Given the description of an element on the screen output the (x, y) to click on. 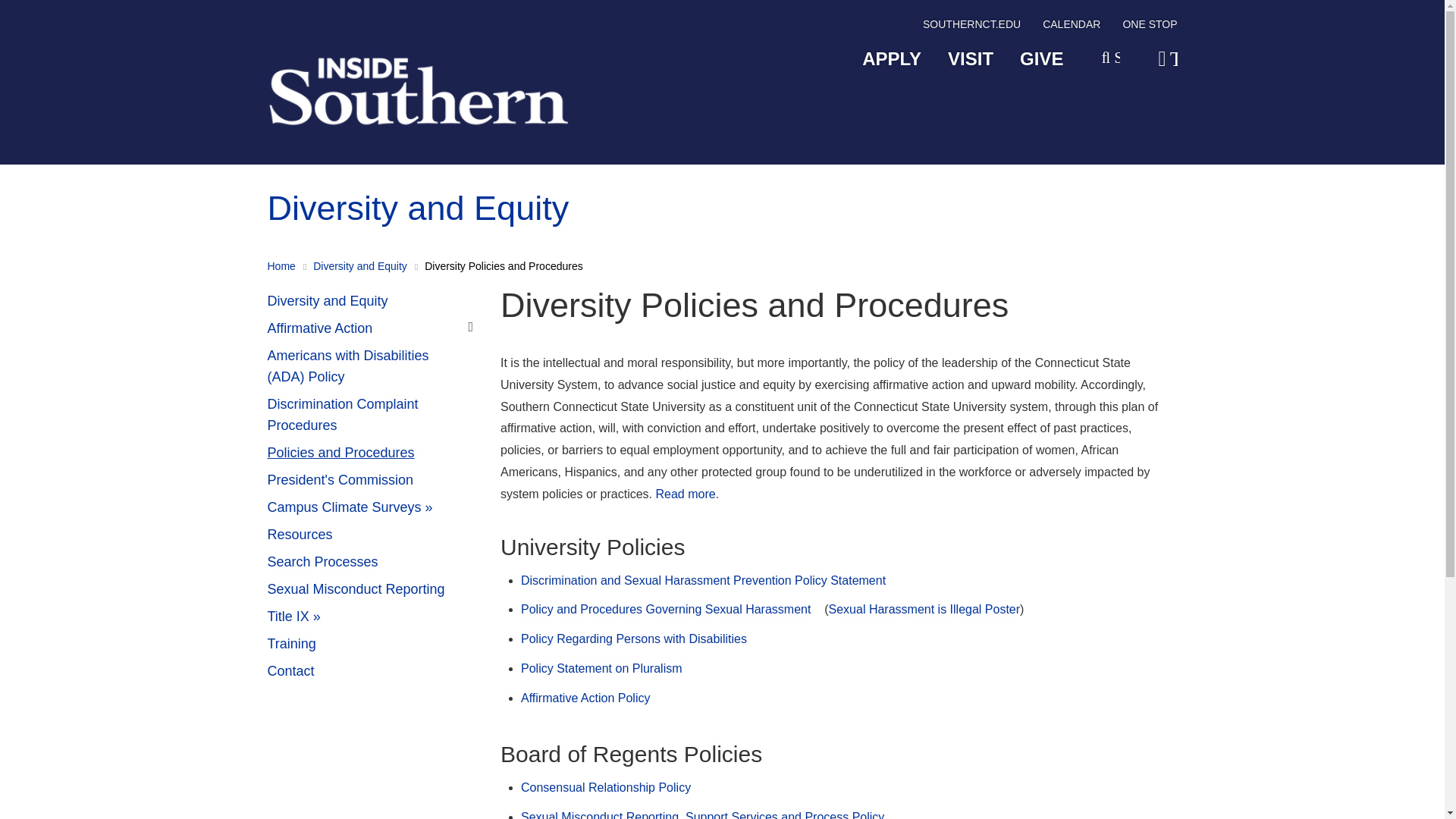
GIVE (1041, 59)
Policy and Procedures Governing Sexual Harassment (665, 608)
Discrimination Complaint Procedures (371, 415)
Consensual Relationship Policy (605, 787)
Affirmative Action Policy (585, 697)
ONE STOP (1149, 27)
CALENDAR (1071, 27)
President's Commission (371, 480)
Affirmative Action (371, 329)
Policy Statement (686, 493)
Policy Statement on Pluralism (601, 667)
APPLY (891, 59)
Diversity and Equity (371, 301)
Home (280, 265)
Sexual Harassment is Illegal Poster (924, 608)
